Given the description of an element on the screen output the (x, y) to click on. 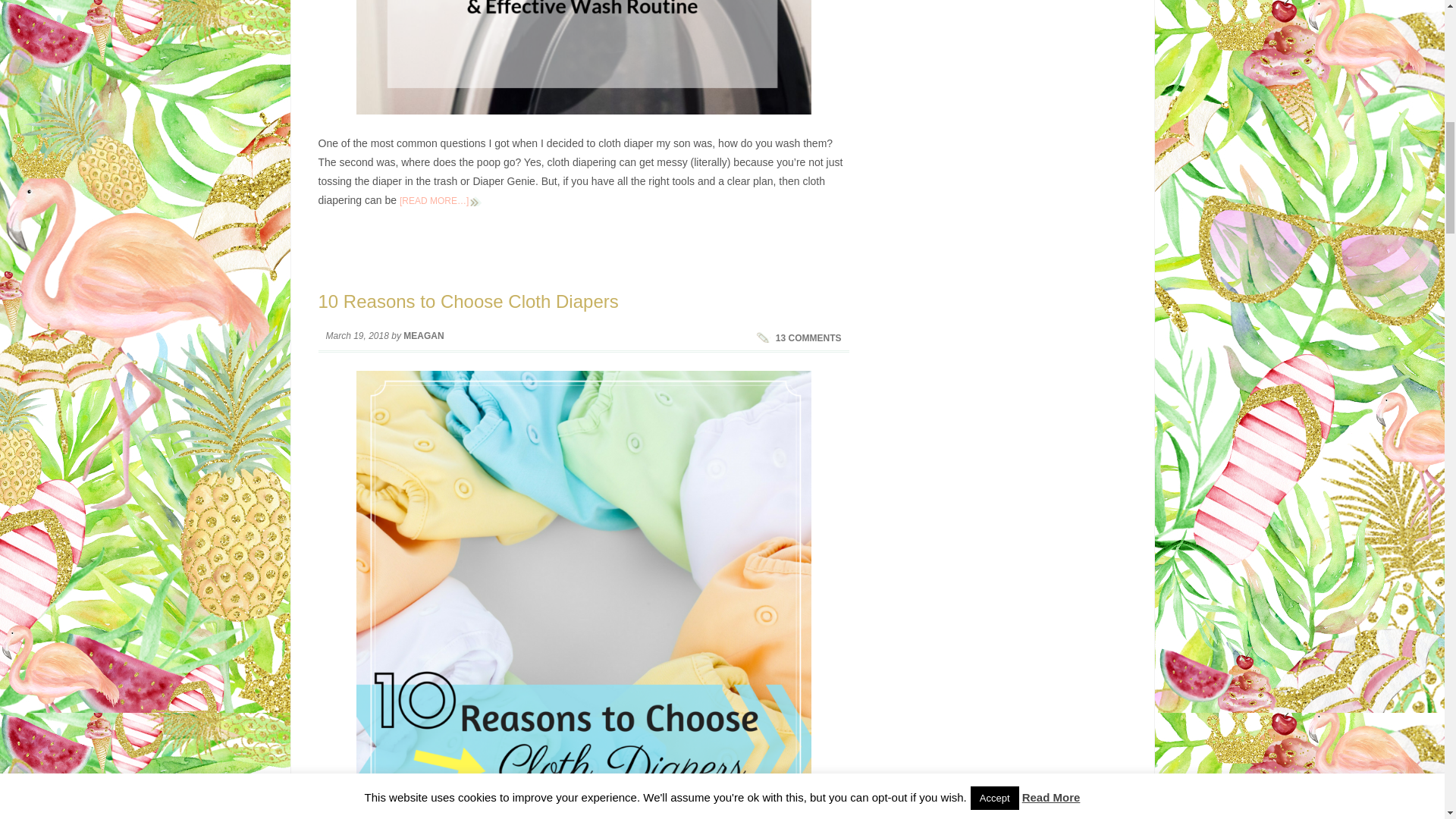
Advertisement (1000, 623)
